Given the description of an element on the screen output the (x, y) to click on. 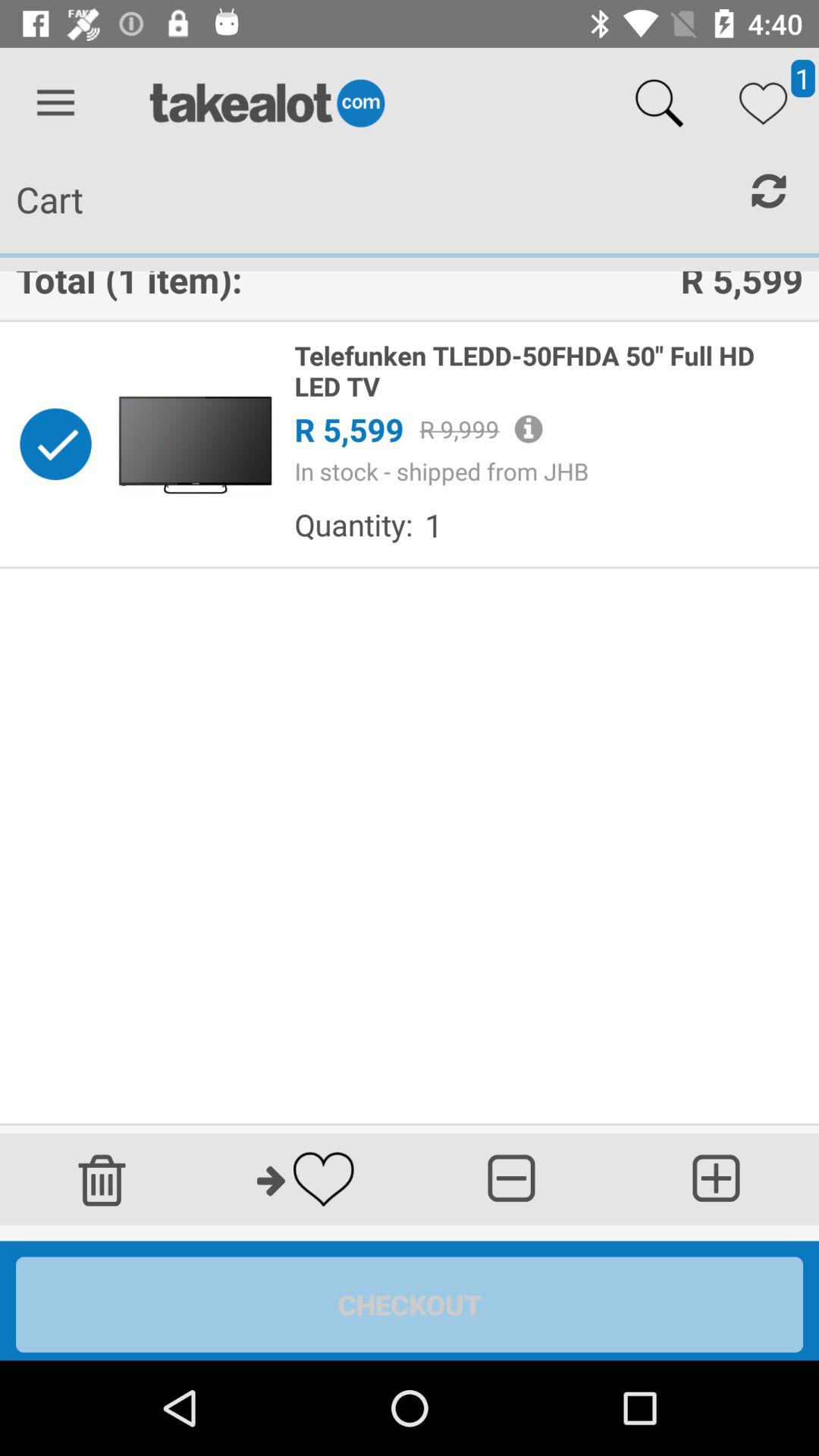
turn off continue shopping (409, 1304)
